Given the description of an element on the screen output the (x, y) to click on. 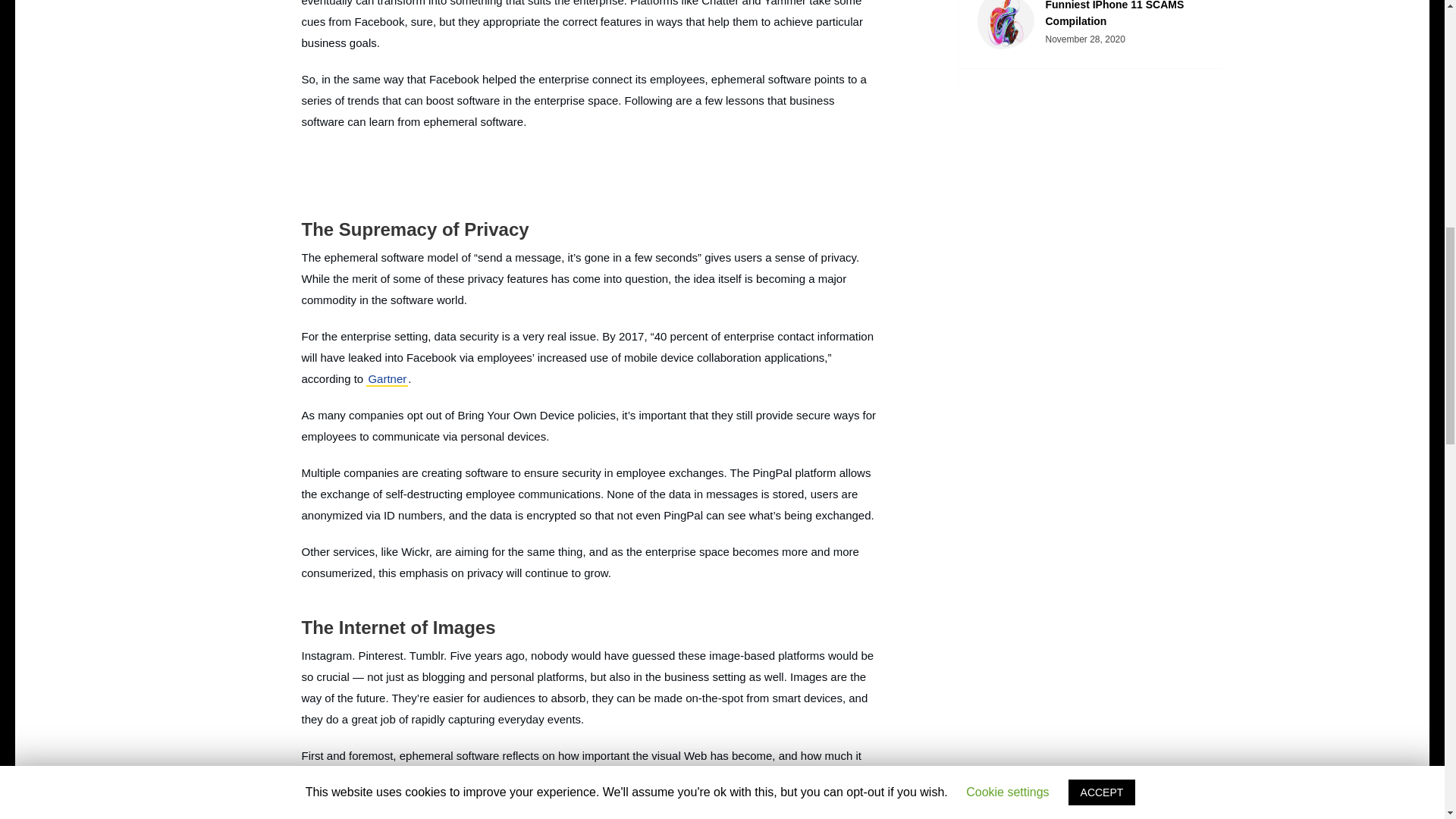
Gartner (386, 379)
